Given the description of an element on the screen output the (x, y) to click on. 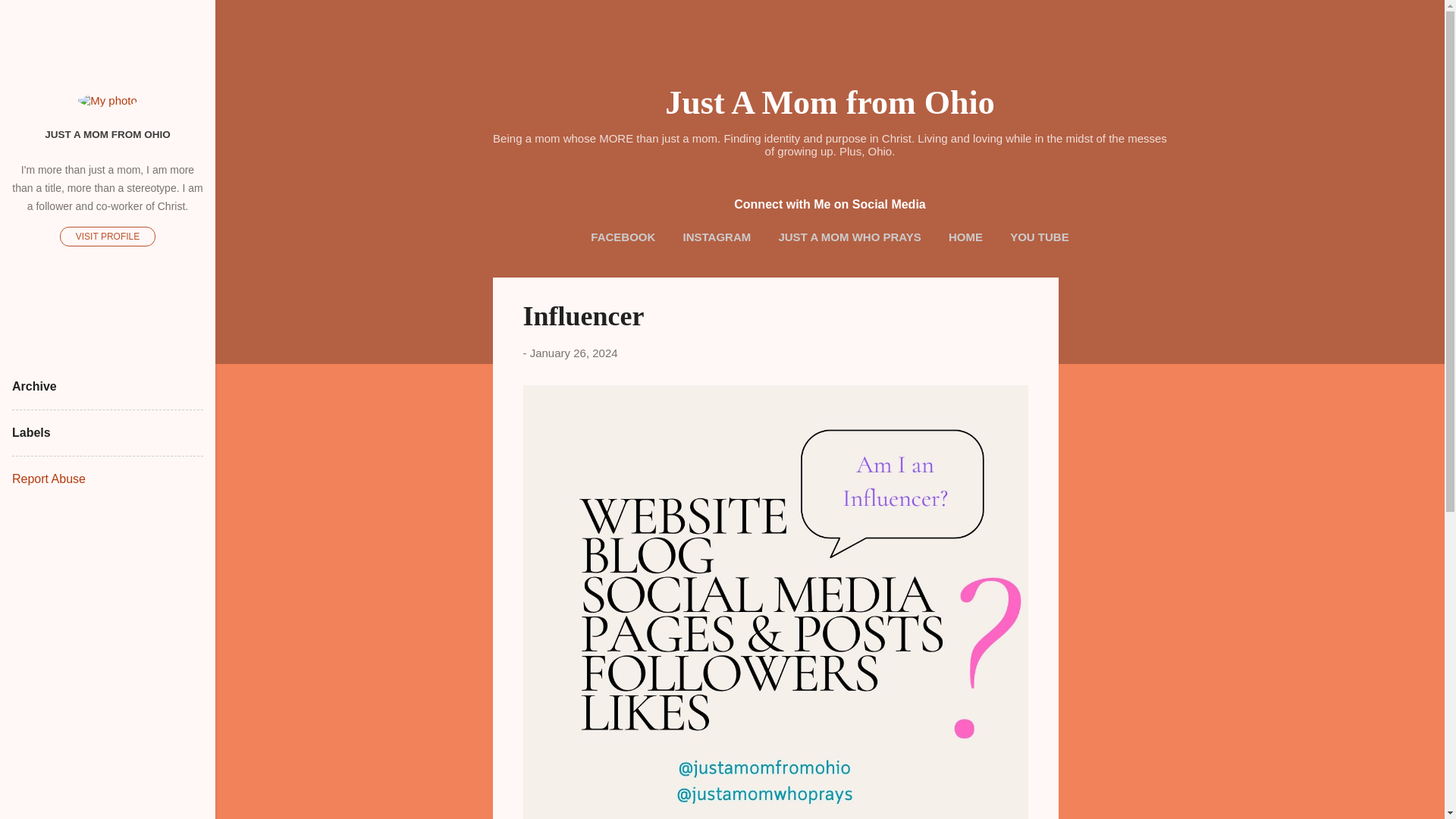
permanent link (573, 352)
JUST A MOM FROM OHIO (107, 133)
FACEBOOK (623, 237)
HOME (965, 237)
Advertisement (1118, 781)
Search (29, 18)
YOU TUBE (1039, 237)
JUST A MOM WHO PRAYS (848, 237)
VISIT PROFILE (107, 236)
INSTAGRAM (717, 237)
Advertisement (1118, 504)
Influencer (583, 316)
January 26, 2024 (573, 352)
